Given the description of an element on the screen output the (x, y) to click on. 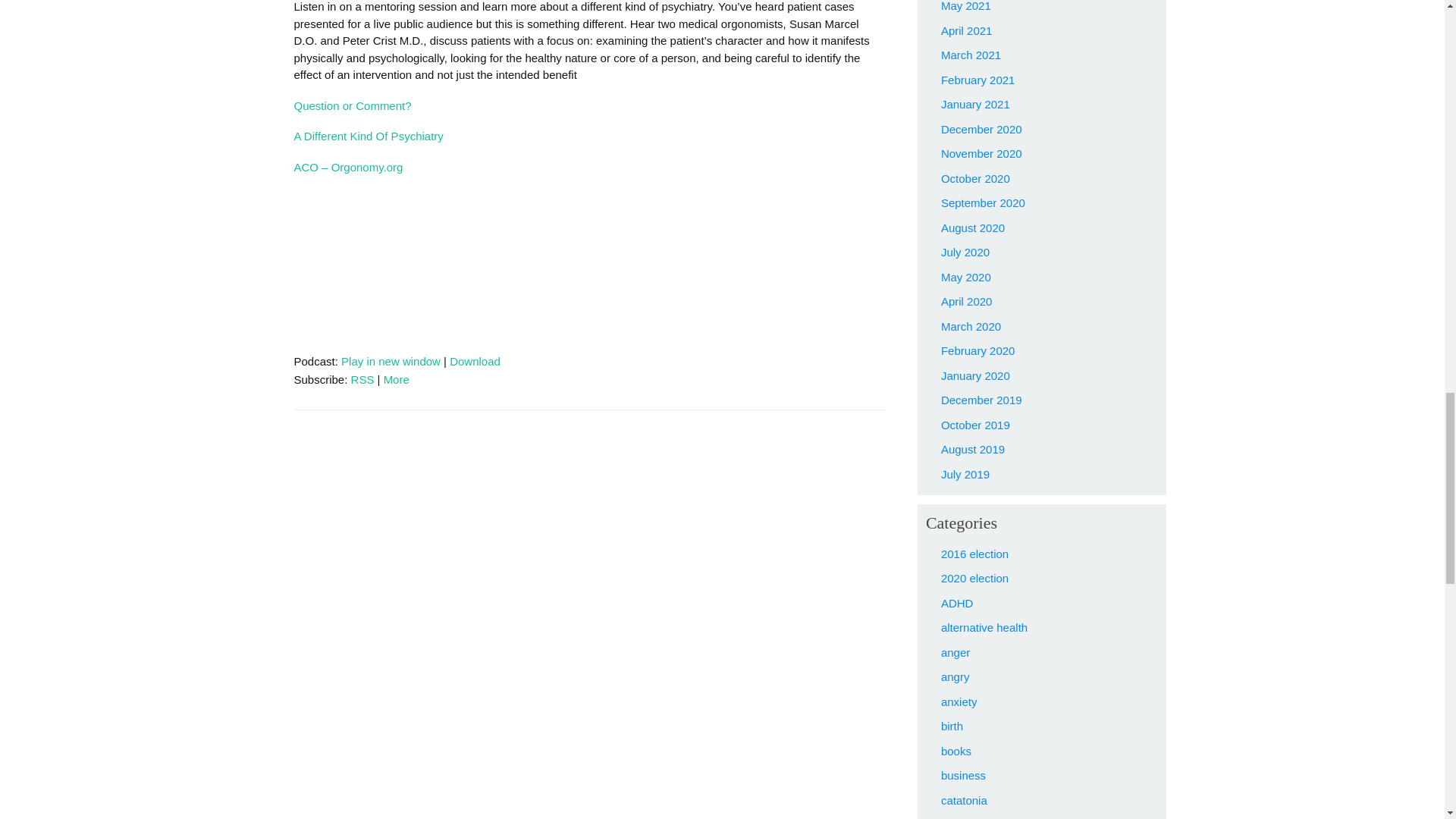
Subscribe via RSS (362, 379)
Download (474, 360)
Blubrry Podcast Player (589, 282)
More (396, 379)
Play in new window (390, 360)
